Given the description of an element on the screen output the (x, y) to click on. 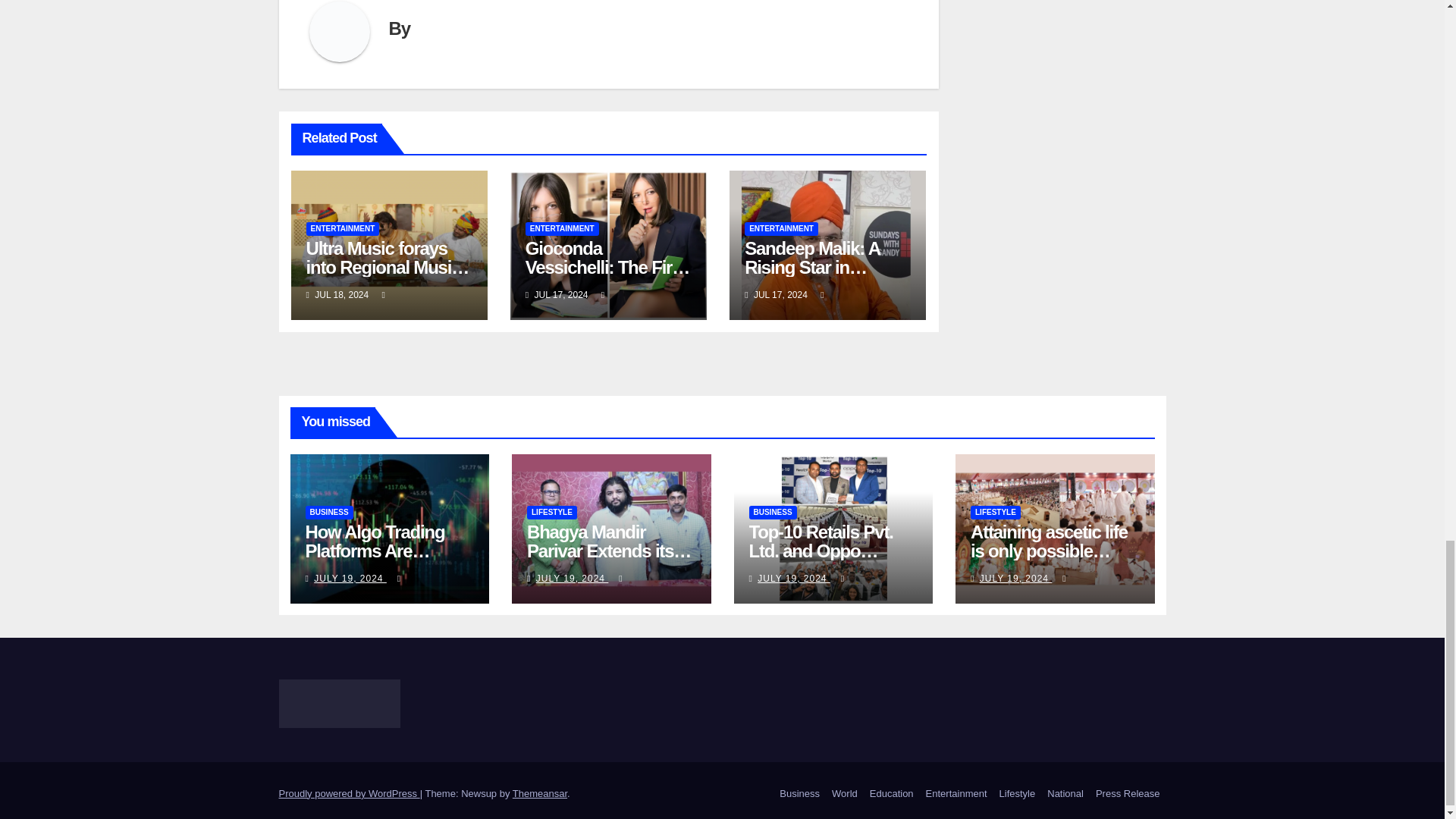
ENTERTAINMENT (561, 228)
ENTERTAINMENT (342, 228)
